Given the description of an element on the screen output the (x, y) to click on. 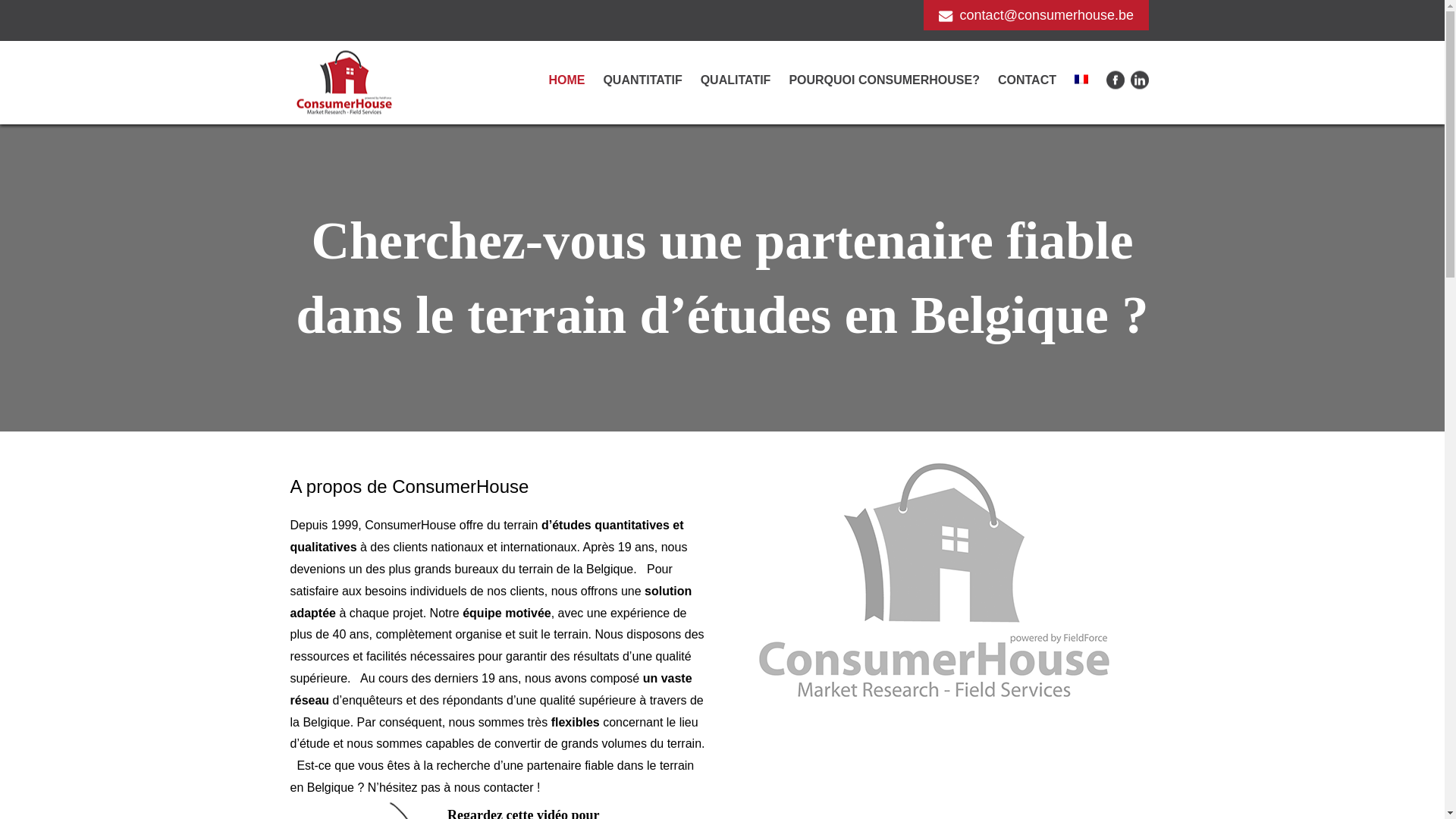
CONTACT Element type: text (1026, 80)
QUALITATIF Element type: text (735, 80)
HOME Element type: text (566, 80)
POURQUOI CONSUMERHOUSE? Element type: text (883, 80)
QUANTITATIF Element type: text (641, 80)
